Given the description of an element on the screen output the (x, y) to click on. 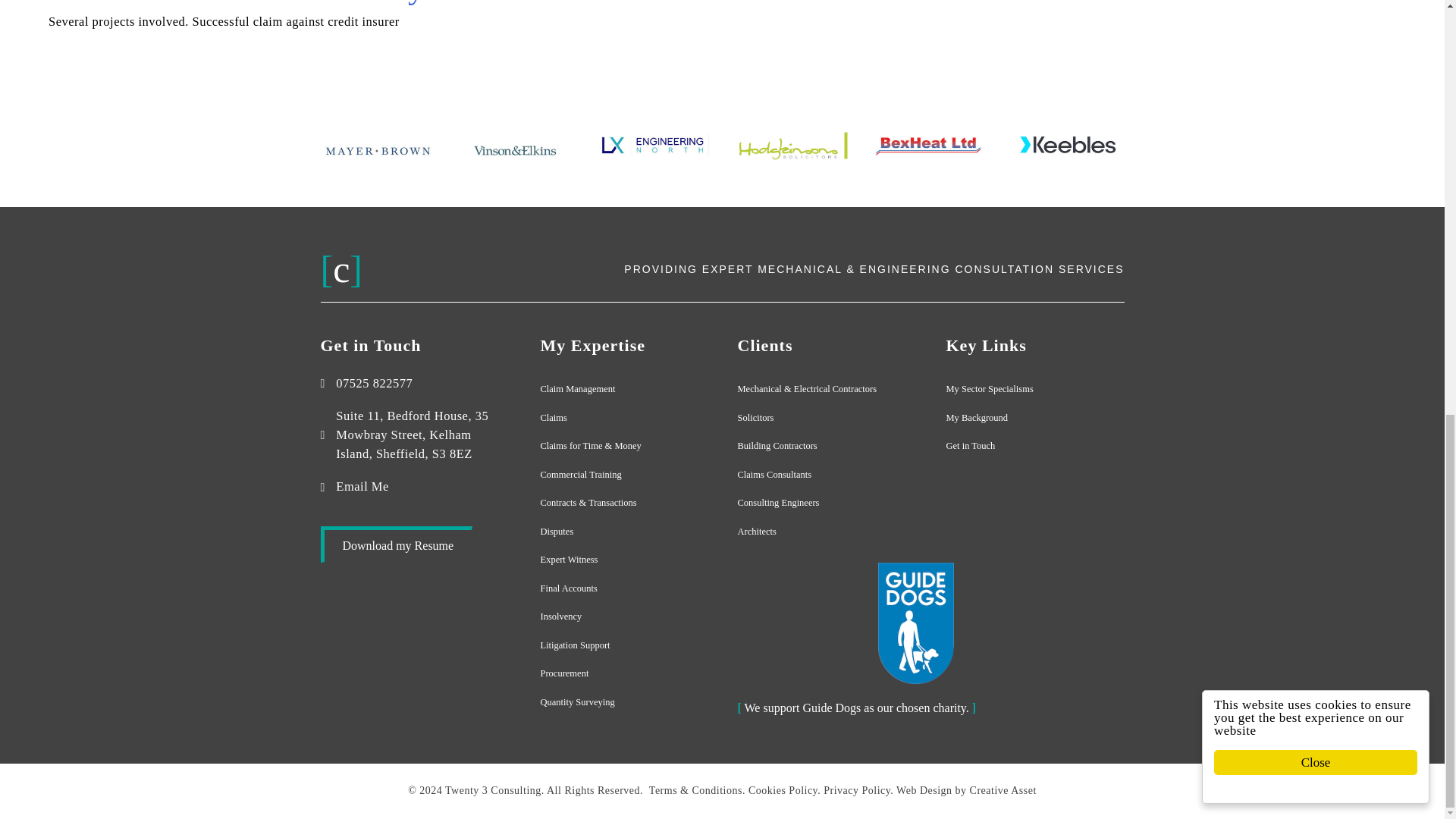
twenty3consulting Mayer Brown Logo (377, 150)
twenty3consulting LX Engineering Logo (653, 144)
twenty3consulting Hodgkinsons Logo (790, 144)
twenty3consulting BexHeat Ltd Logo (928, 144)
